Given the description of an element on the screen output the (x, y) to click on. 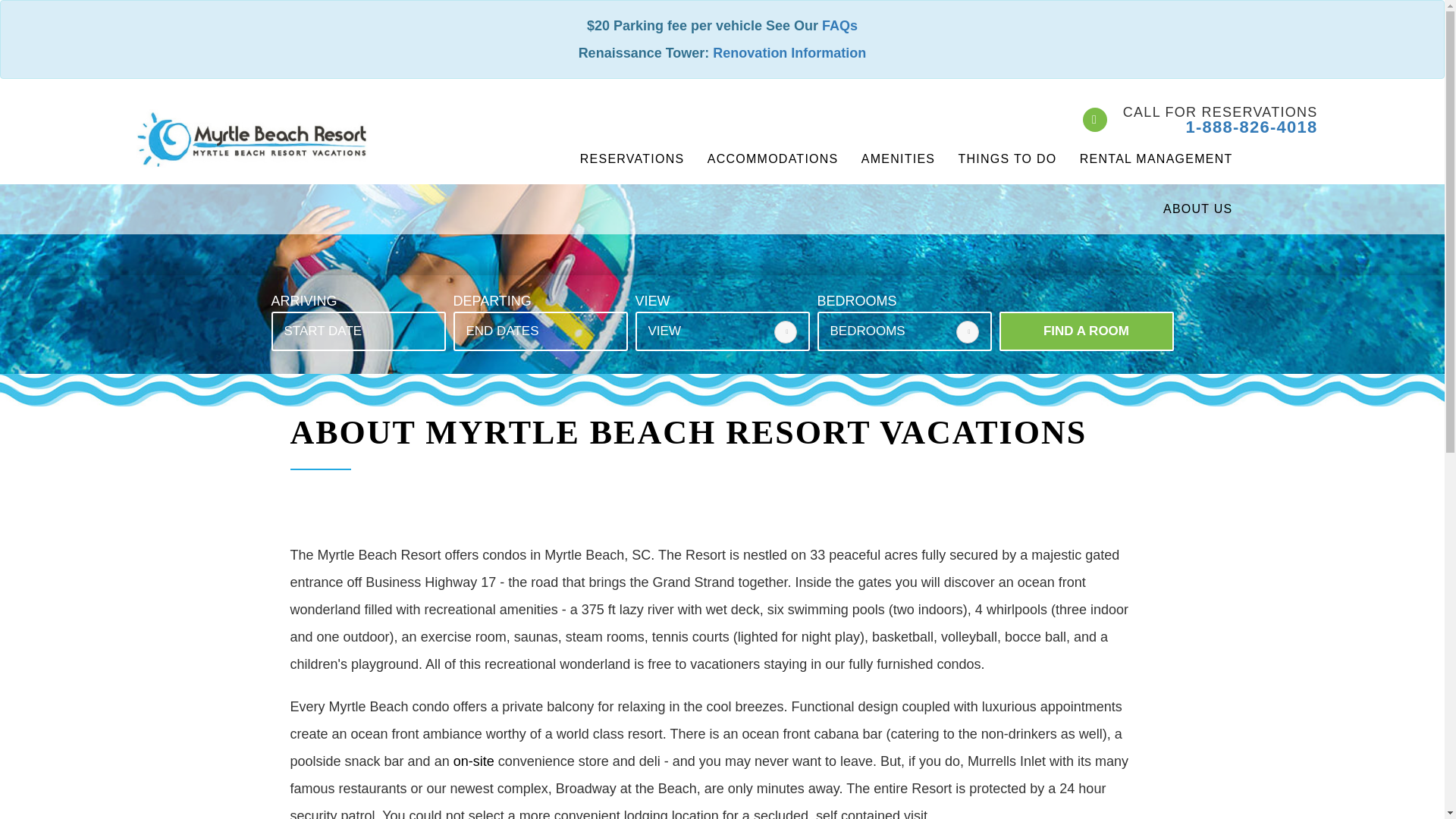
THINGS TO DO (1007, 159)
view (721, 331)
FAQs (839, 25)
Find A Room (1085, 331)
Bedrooms (903, 331)
Myrtle Beach Resort (252, 138)
RENTAL MANAGEMENT (1155, 159)
AMENITIES (897, 159)
RESERVATIONS (632, 159)
Renovation Information (789, 52)
1-888-826-4018 (1251, 126)
ACCOMMODATIONS (772, 159)
